Given the description of an element on the screen output the (x, y) to click on. 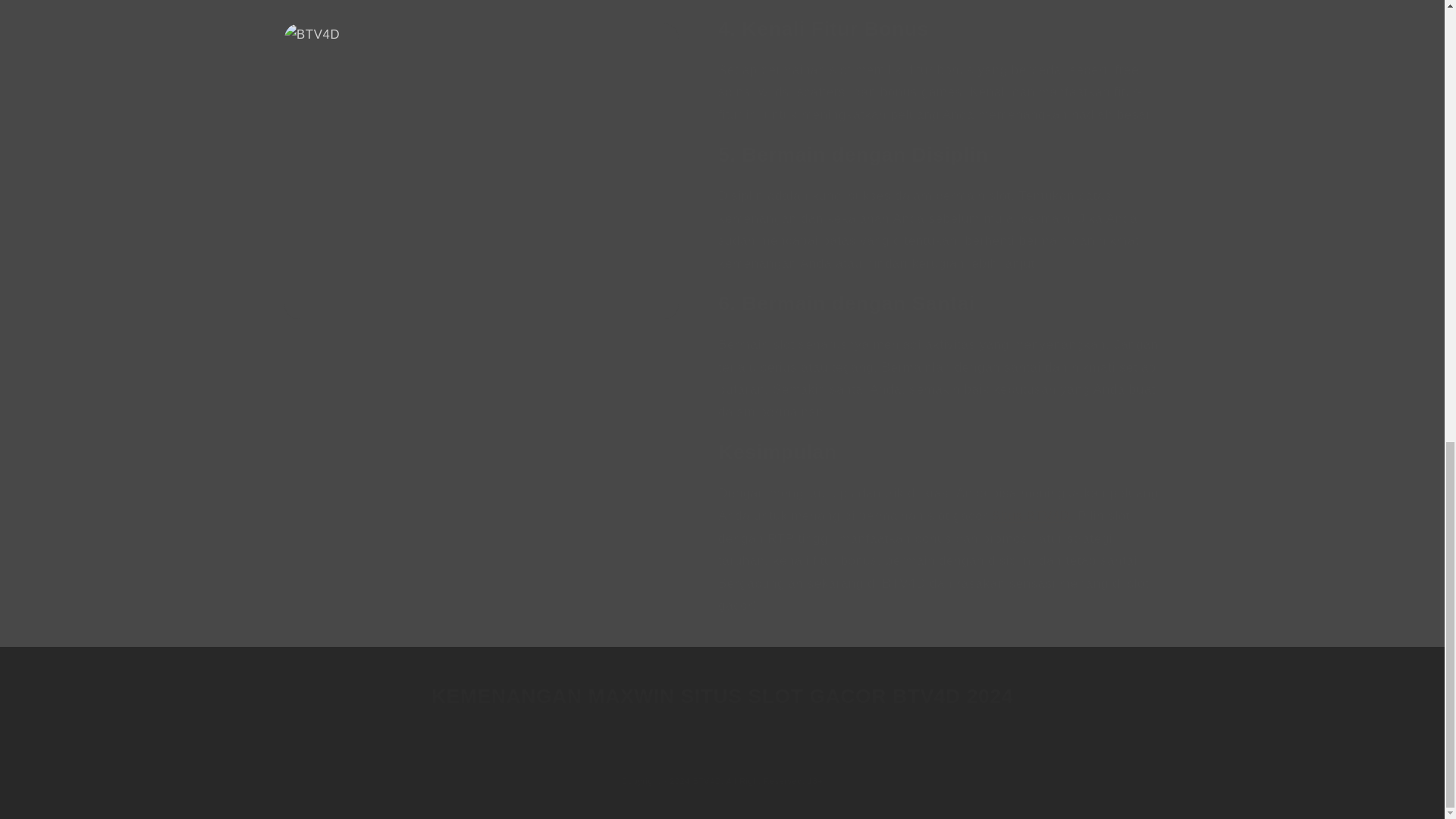
KEMENANGAN MAXWIN SITUS SLOT GACOR BTV4D 2024 (722, 696)
Situs BTV4D (1030, 495)
